Given the description of an element on the screen output the (x, y) to click on. 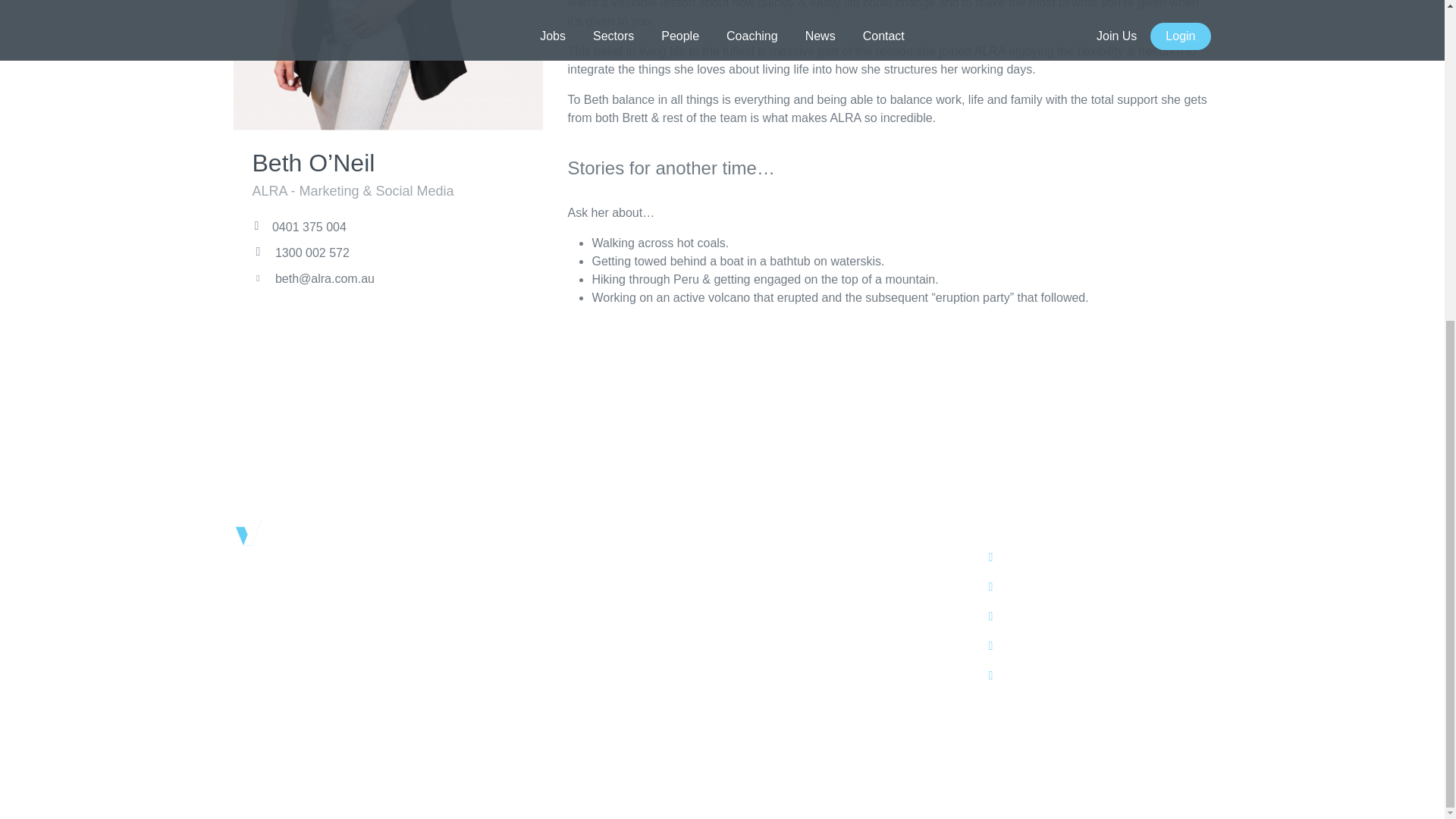
Home (750, 558)
1300 002 572 (534, 657)
Privacy Policy Australia (796, 723)
Jobs (746, 578)
People (752, 620)
Social Impact (769, 702)
0401 375 004 (298, 226)
Privacy Policy UK (781, 744)
1300 002 572 (534, 578)
Contact (754, 640)
Login (747, 681)
Join Us (753, 661)
1300 002 572 (300, 252)
Sectors (753, 599)
LinkedIn (1019, 556)
